Given the description of an element on the screen output the (x, y) to click on. 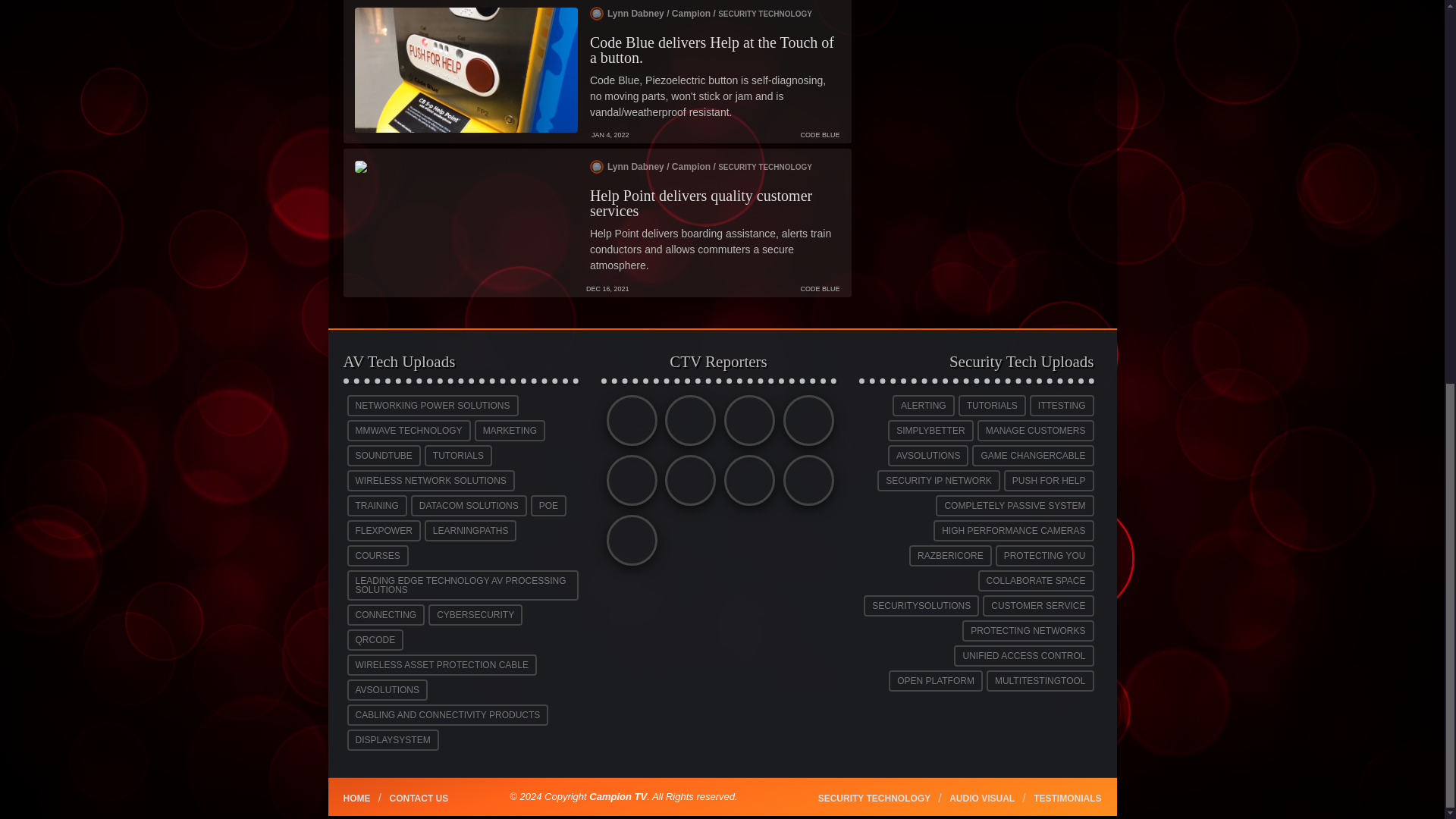
Rodney Young - Campion (746, 484)
Help Point delivers quality customer services (700, 203)
Lynn Dabney (700, 13)
Graham Smith - Campion (687, 423)
Nancy Shannon - Campion (687, 484)
Lynn Dabney (700, 166)
Scott Dabney - Campion (805, 484)
Luke Hagar - Campion (805, 423)
Kace Swafford - Campion (746, 423)
Code Blue delivers Help at the Touch of a button. (711, 50)
Lynn Dabney - Campion (627, 484)
Campion Sales - Campion (627, 423)
